Given the description of an element on the screen output the (x, y) to click on. 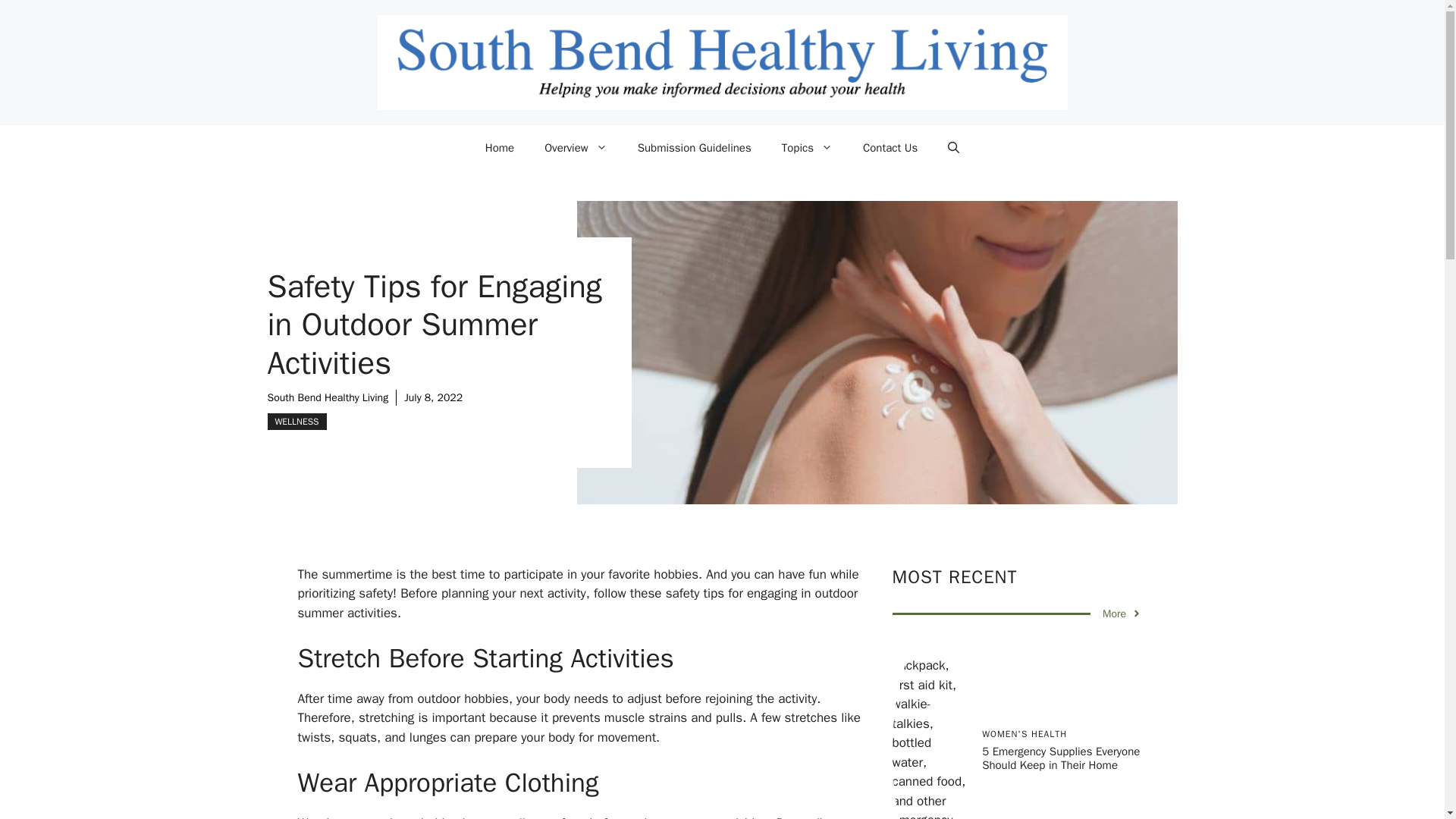
WELLNESS (296, 421)
Topics (807, 147)
5 Emergency Supplies Everyone Should Keep in Their Home (1060, 758)
South Bend Healthy Living (327, 397)
More (1121, 613)
Contact Us (890, 147)
Overview (576, 147)
Home (499, 147)
Submission Guidelines (695, 147)
